Given the description of an element on the screen output the (x, y) to click on. 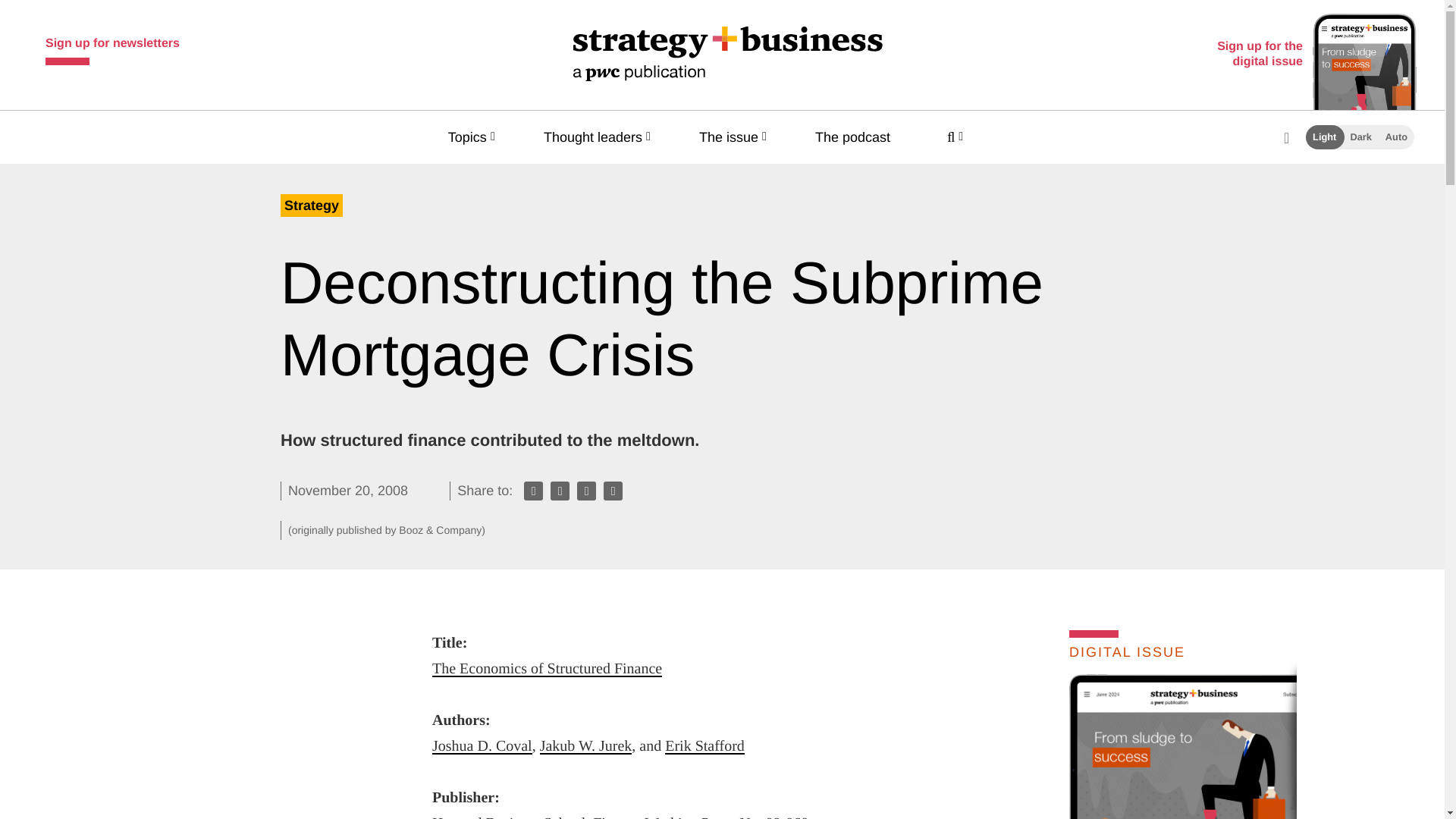
The issue (735, 136)
A collection of topics for thought leaders (600, 136)
Topics (475, 136)
Illustration of flying birds delivering information (1067, 816)
Sign up for the digital issue (1313, 54)
The podcast (860, 136)
Thought leaders (600, 136)
Sign up for newsletters (112, 47)
